Given the description of an element on the screen output the (x, y) to click on. 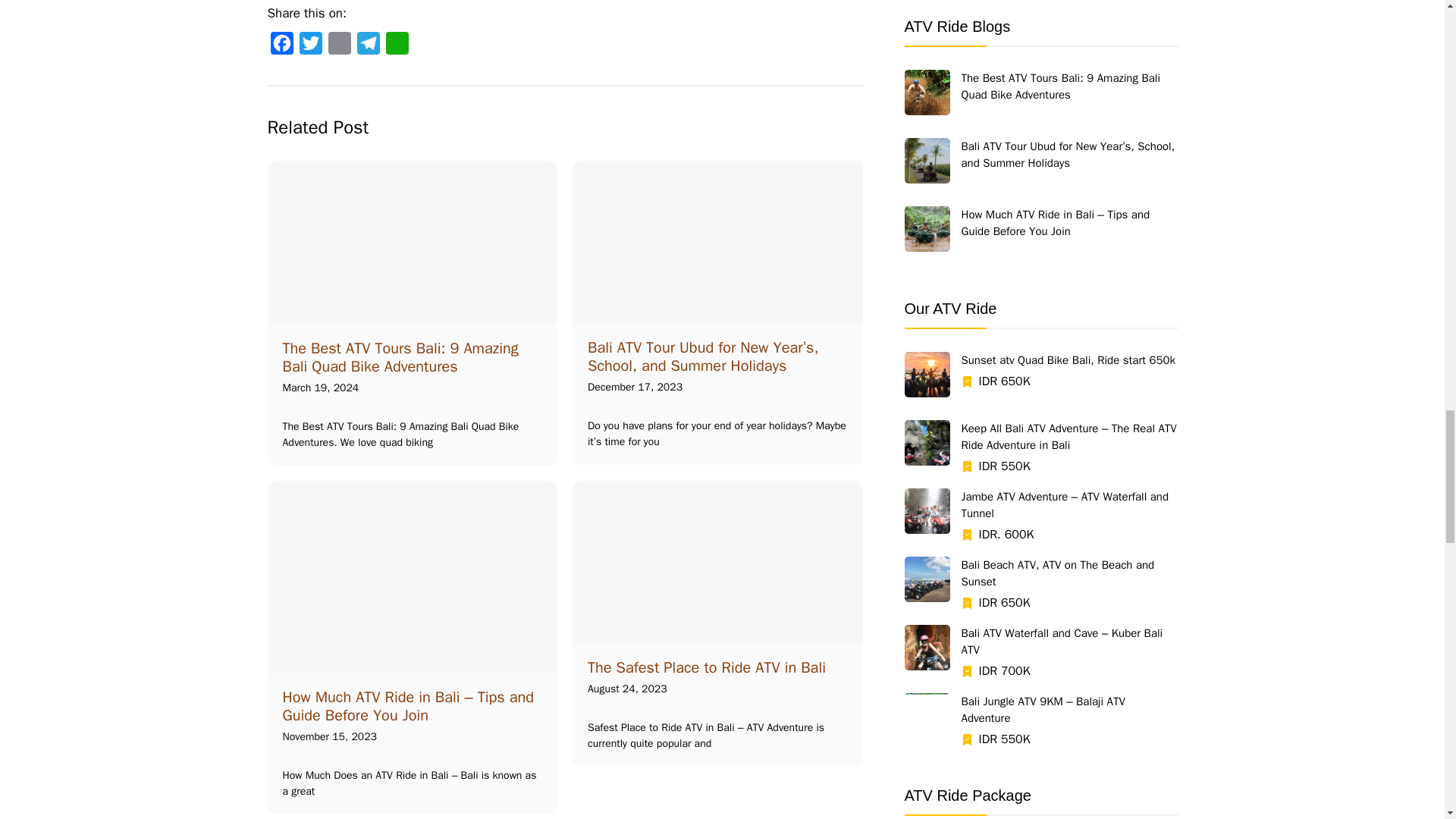
Telegram (367, 42)
Twitter (309, 42)
The Safest Place to Ride ATV in Bali (706, 667)
Email (338, 42)
The Best ATV Tours Bali: 9 Amazing Bali Quad Bike Adventures (400, 357)
Facebook (280, 42)
Twitter (309, 42)
Telegram (367, 42)
WhatsApp (395, 42)
Email (338, 42)
